Given the description of an element on the screen output the (x, y) to click on. 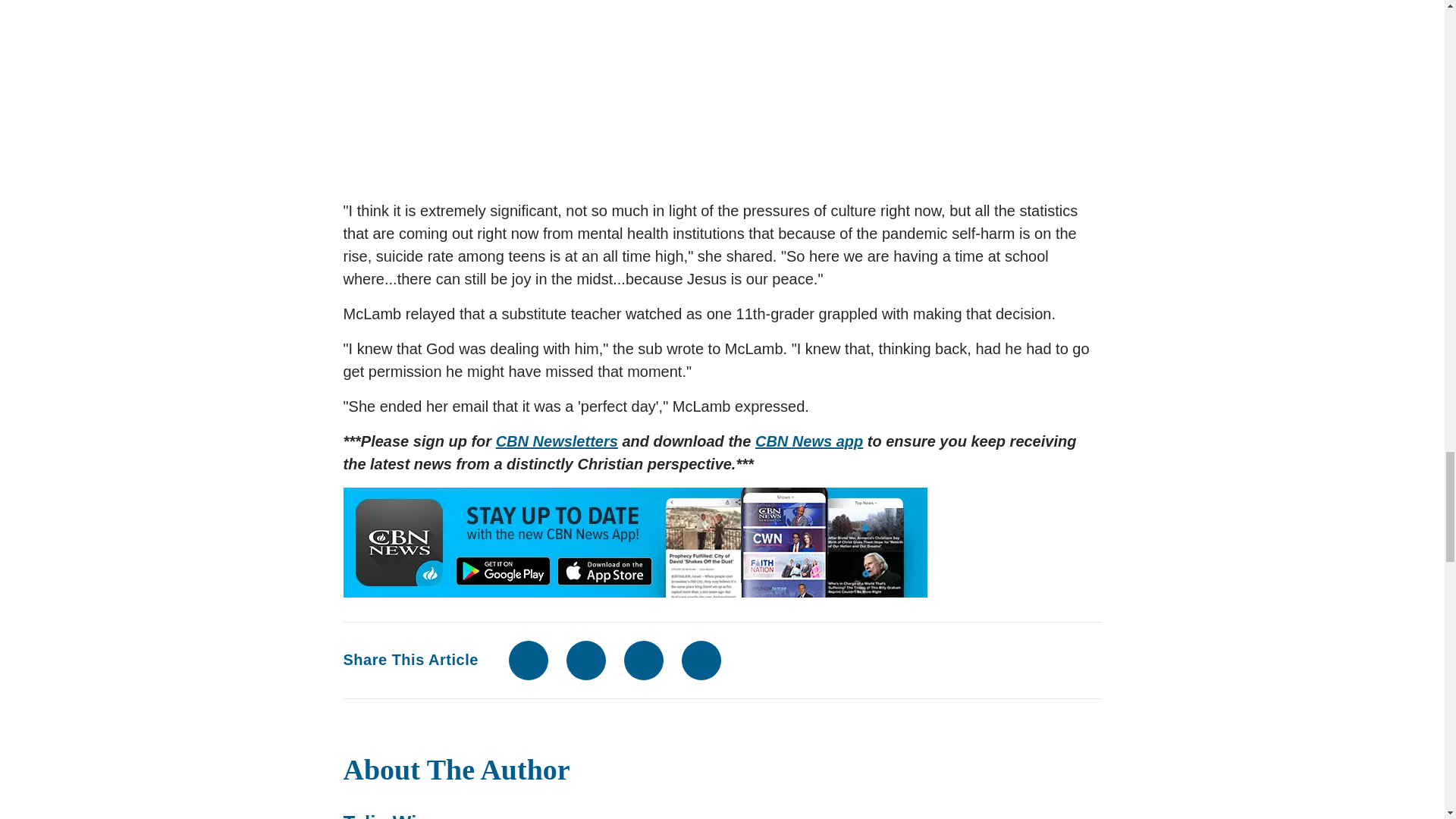
Twitter (585, 660)
Facebook (528, 660)
Link (700, 660)
Mail (643, 660)
